Given the description of an element on the screen output the (x, y) to click on. 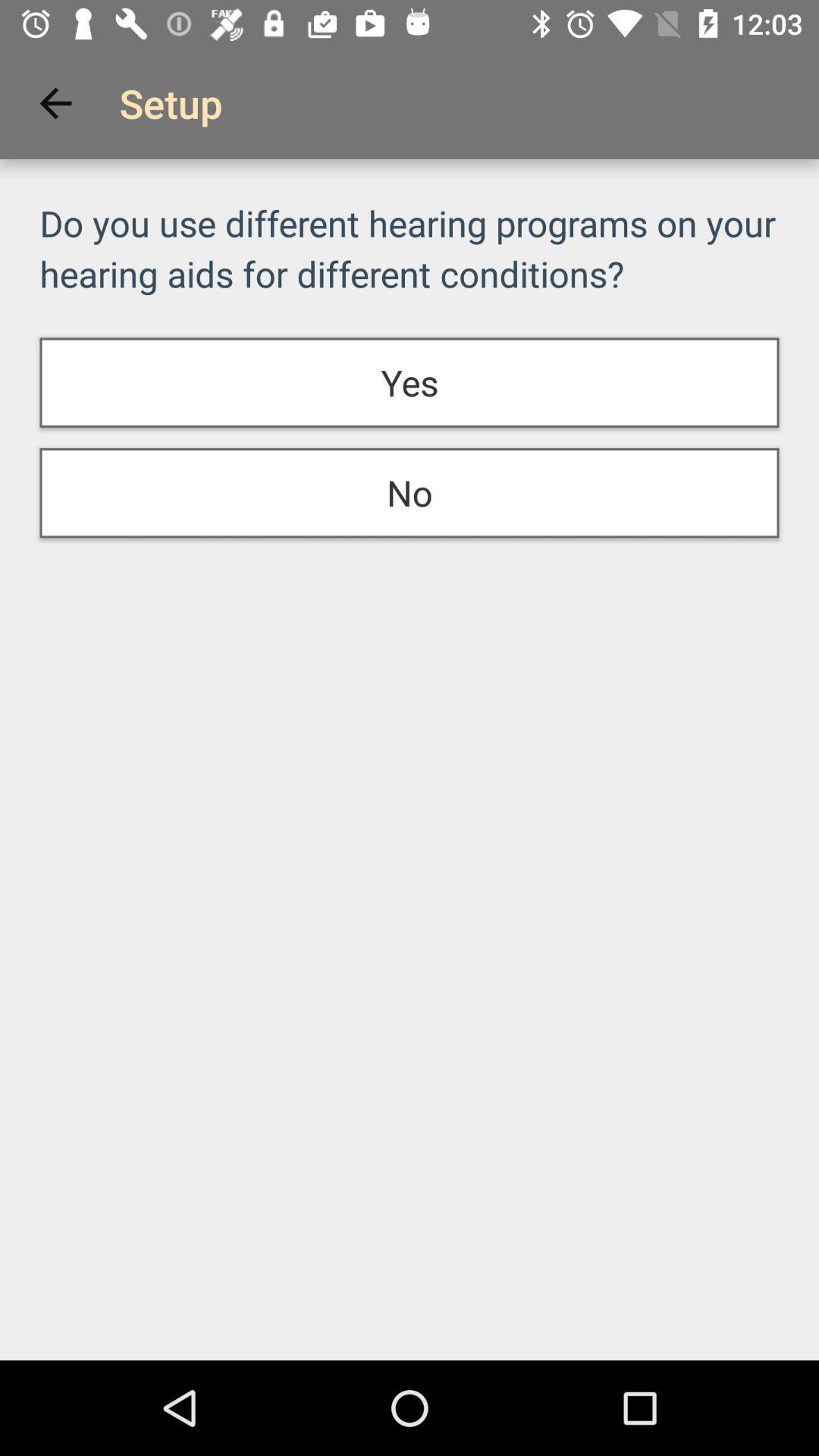
open yes icon (409, 382)
